Given the description of an element on the screen output the (x, y) to click on. 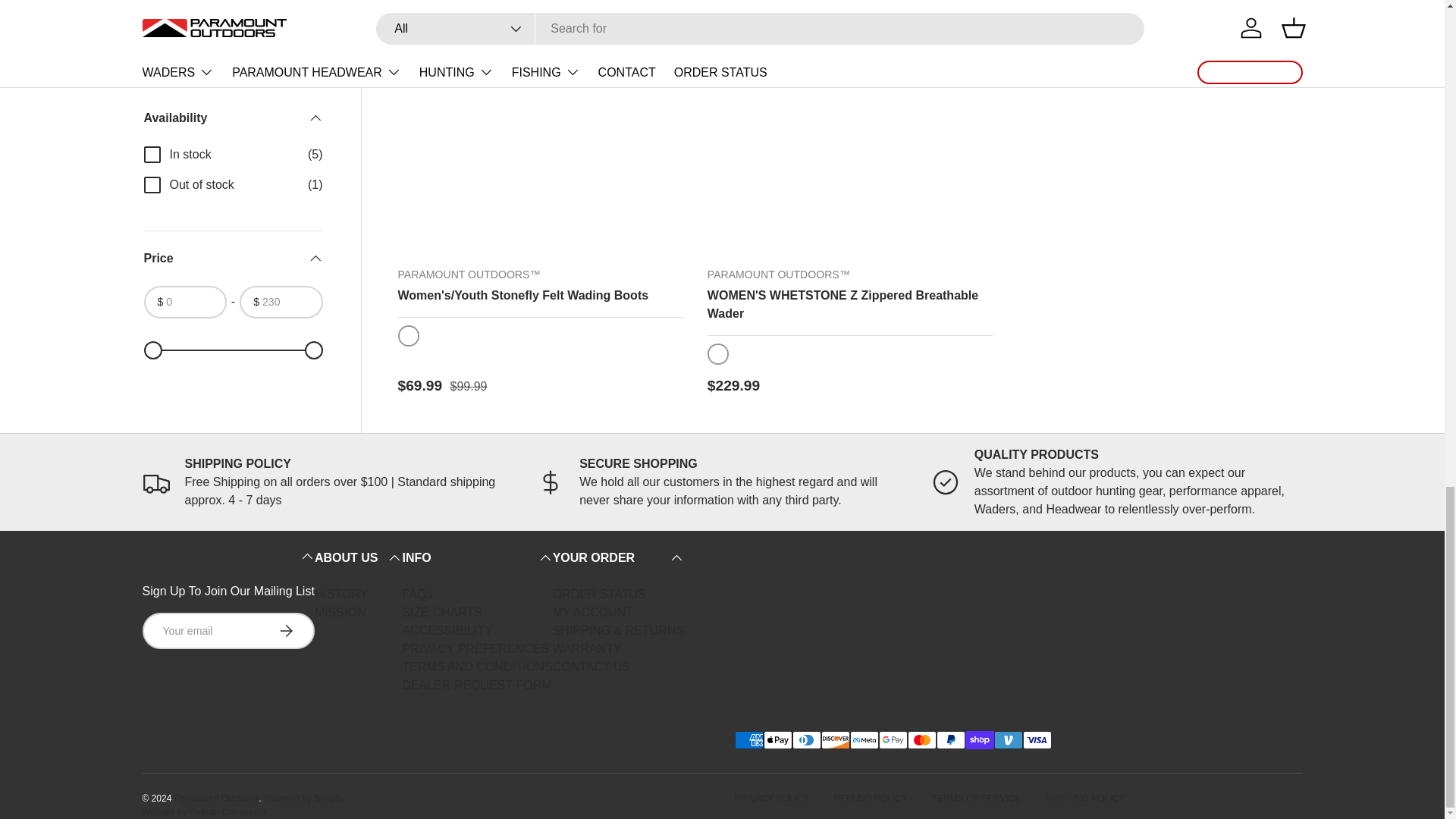
BROWN (407, 335)
ELK (717, 353)
